Given the description of an element on the screen output the (x, y) to click on. 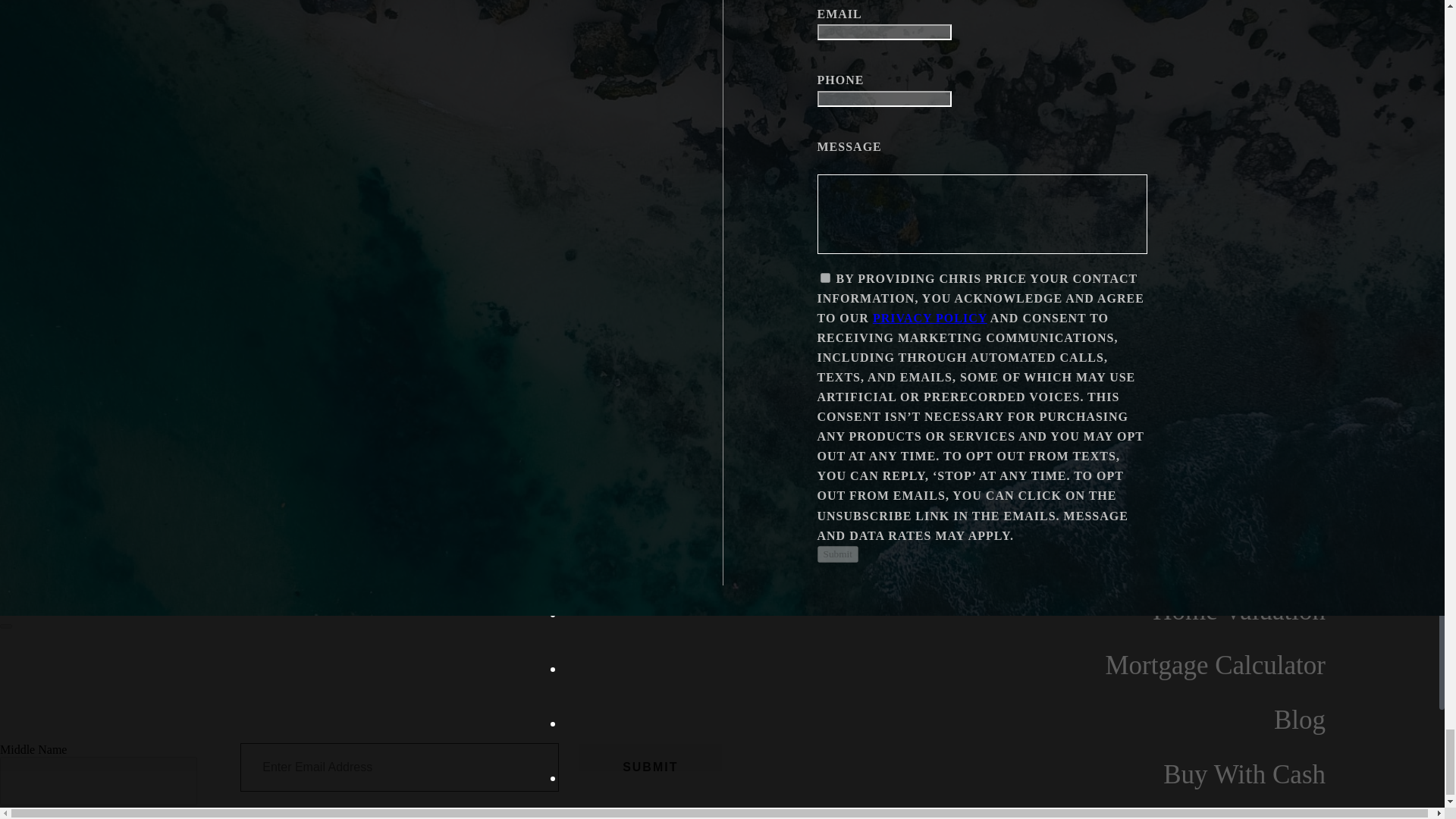
on (825, 277)
Submit (650, 766)
